Given the description of an element on the screen output the (x, y) to click on. 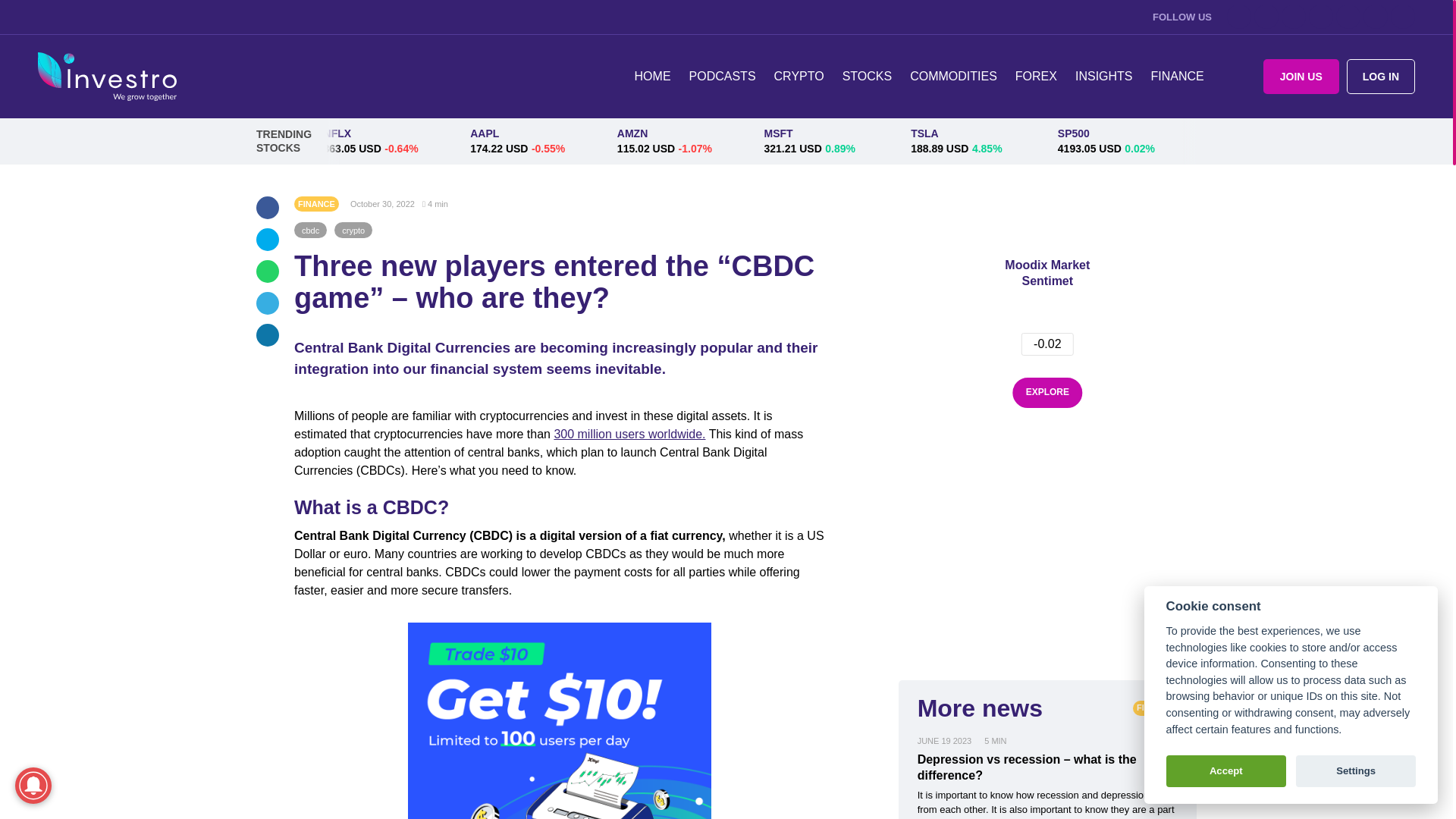
CRYPTO (799, 76)
crypto (353, 229)
LOG IN (1380, 76)
INSIGHTS (1103, 76)
HOME (652, 76)
FINANCE (1176, 76)
Advertisement (1047, 558)
Investro.com (106, 76)
COMMODITIES (953, 76)
FOREX (1035, 76)
PODCASTS (721, 76)
JOIN US (1301, 76)
FINANCE (316, 203)
cbdc (310, 229)
300 million users worldwide. (628, 433)
